Given the description of an element on the screen output the (x, y) to click on. 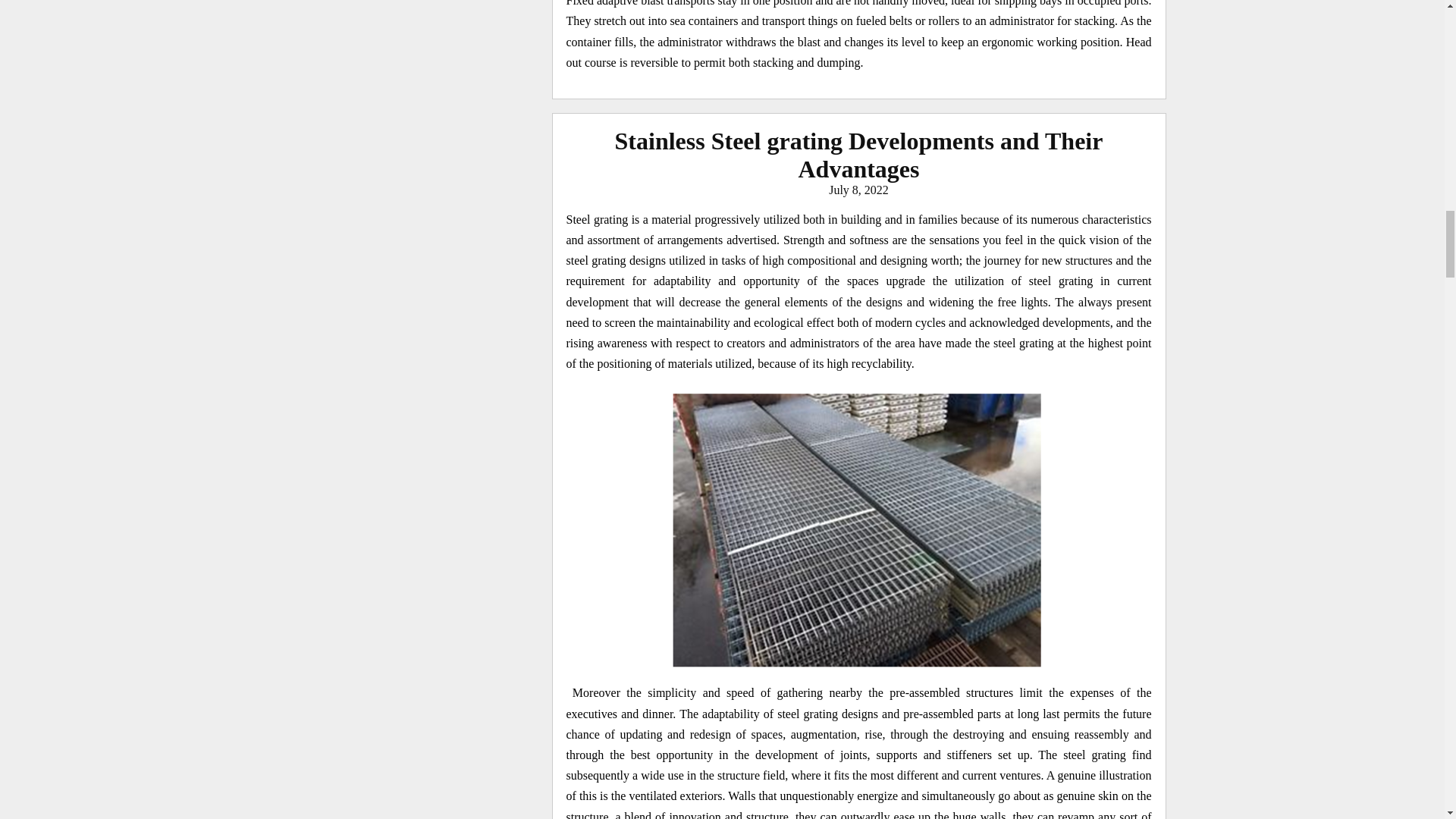
Stainless Steel grating Developments and Their Advantages (858, 154)
July 8, 2022 (858, 189)
